Given the description of an element on the screen output the (x, y) to click on. 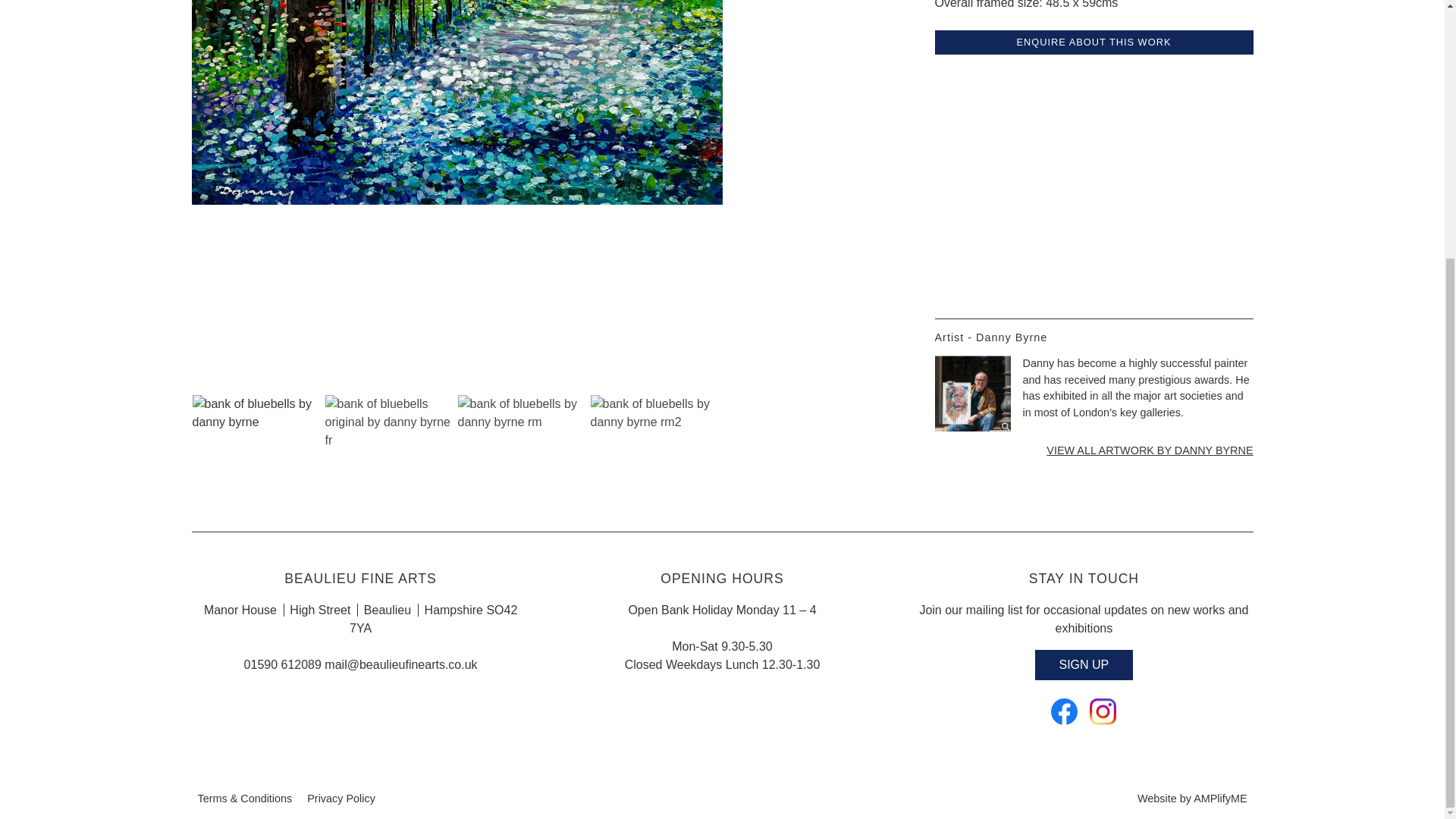
website design and development by AMPLifyME (1191, 798)
Beaulieu Fine Arts  (1064, 714)
Beaulieu Fine Arts  (1102, 714)
